Given the description of an element on the screen output the (x, y) to click on. 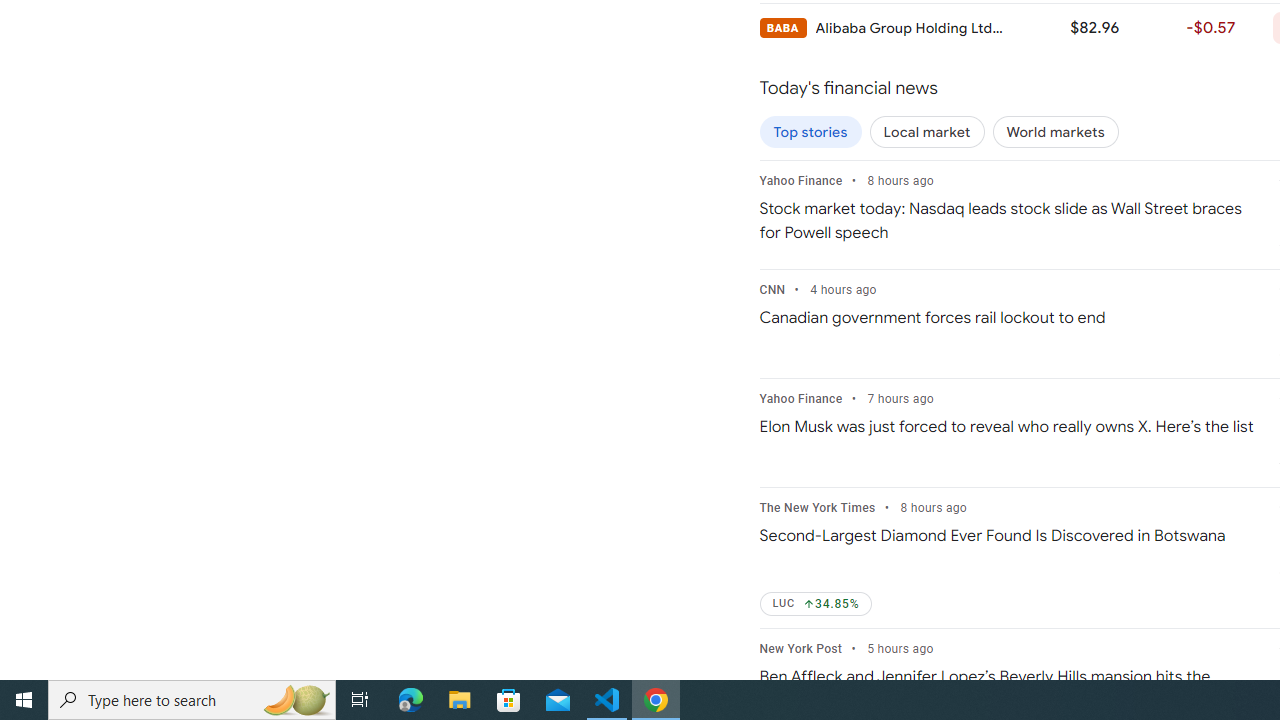
Top stories (810, 131)
World markets (1055, 131)
LUC Up by 34.85% (815, 603)
Local market (927, 131)
